Given the description of an element on the screen output the (x, y) to click on. 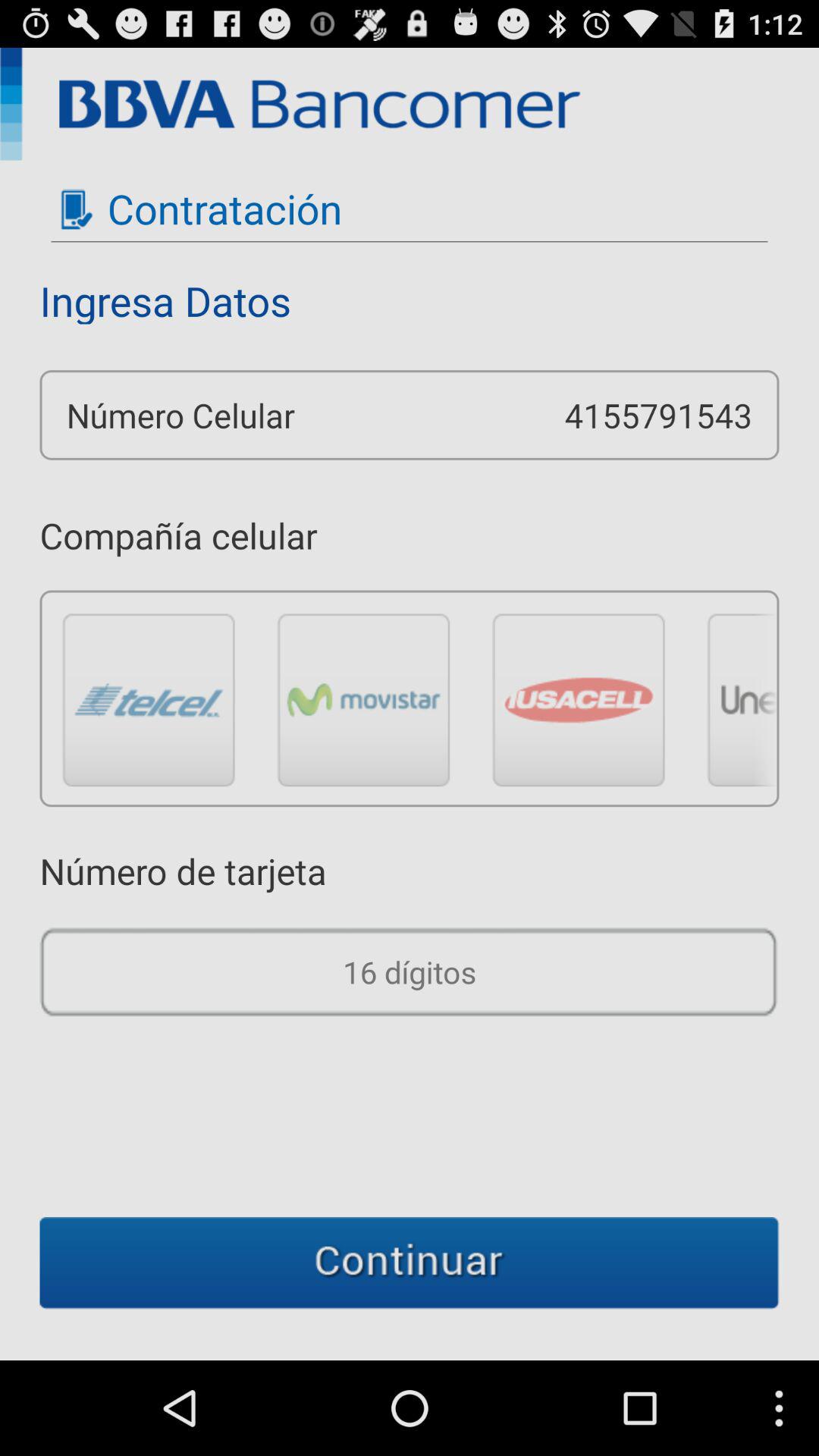
choose movistar telco (363, 699)
